Given the description of an element on the screen output the (x, y) to click on. 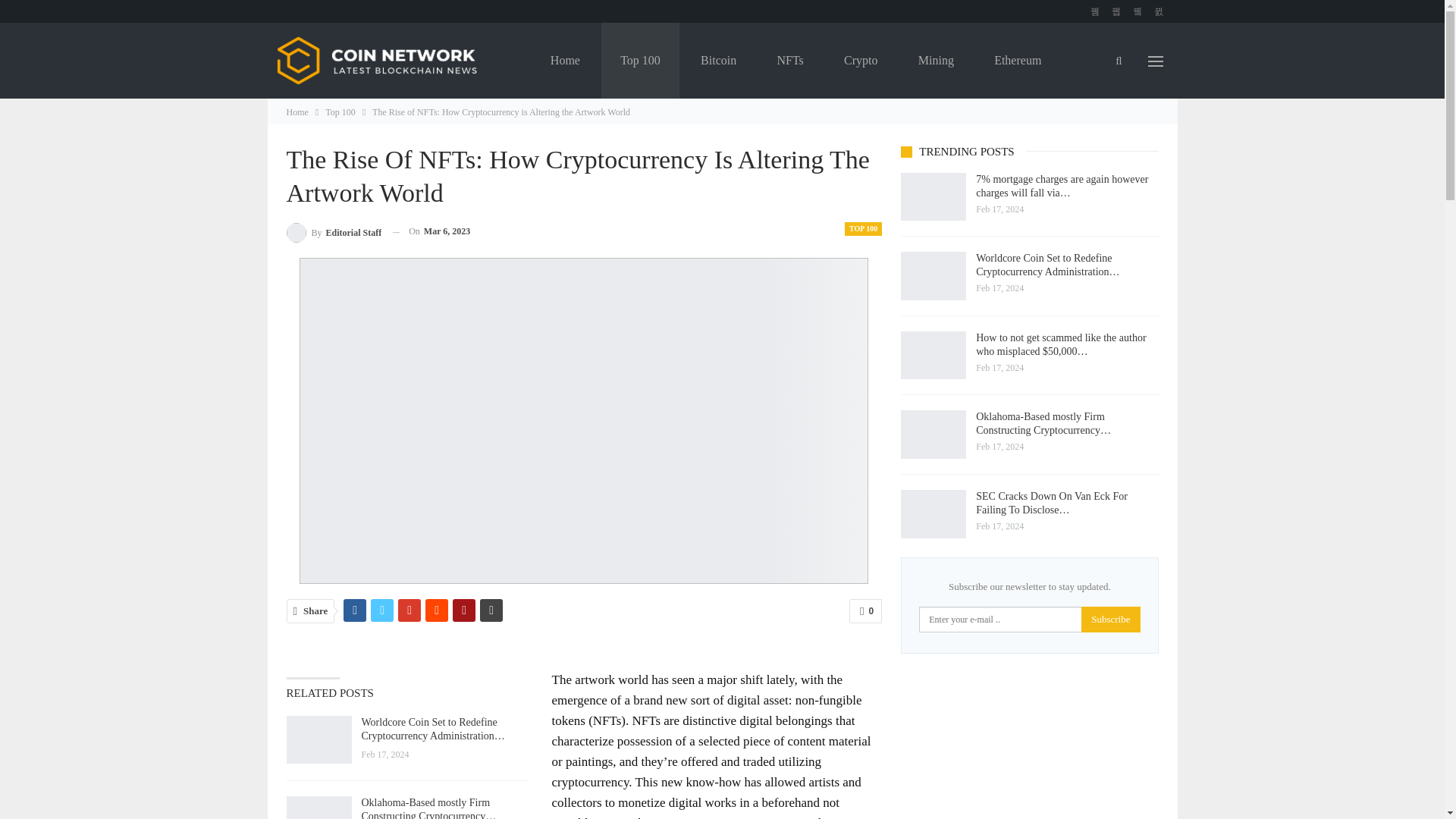
Crypto (860, 60)
Cryptopedia (670, 136)
Mining (935, 60)
Browse Author Articles (333, 231)
Top 100 (640, 60)
Top 100 (339, 112)
By Editorial Staff (333, 231)
Bitcoin (718, 60)
0 (865, 610)
